Given the description of an element on the screen output the (x, y) to click on. 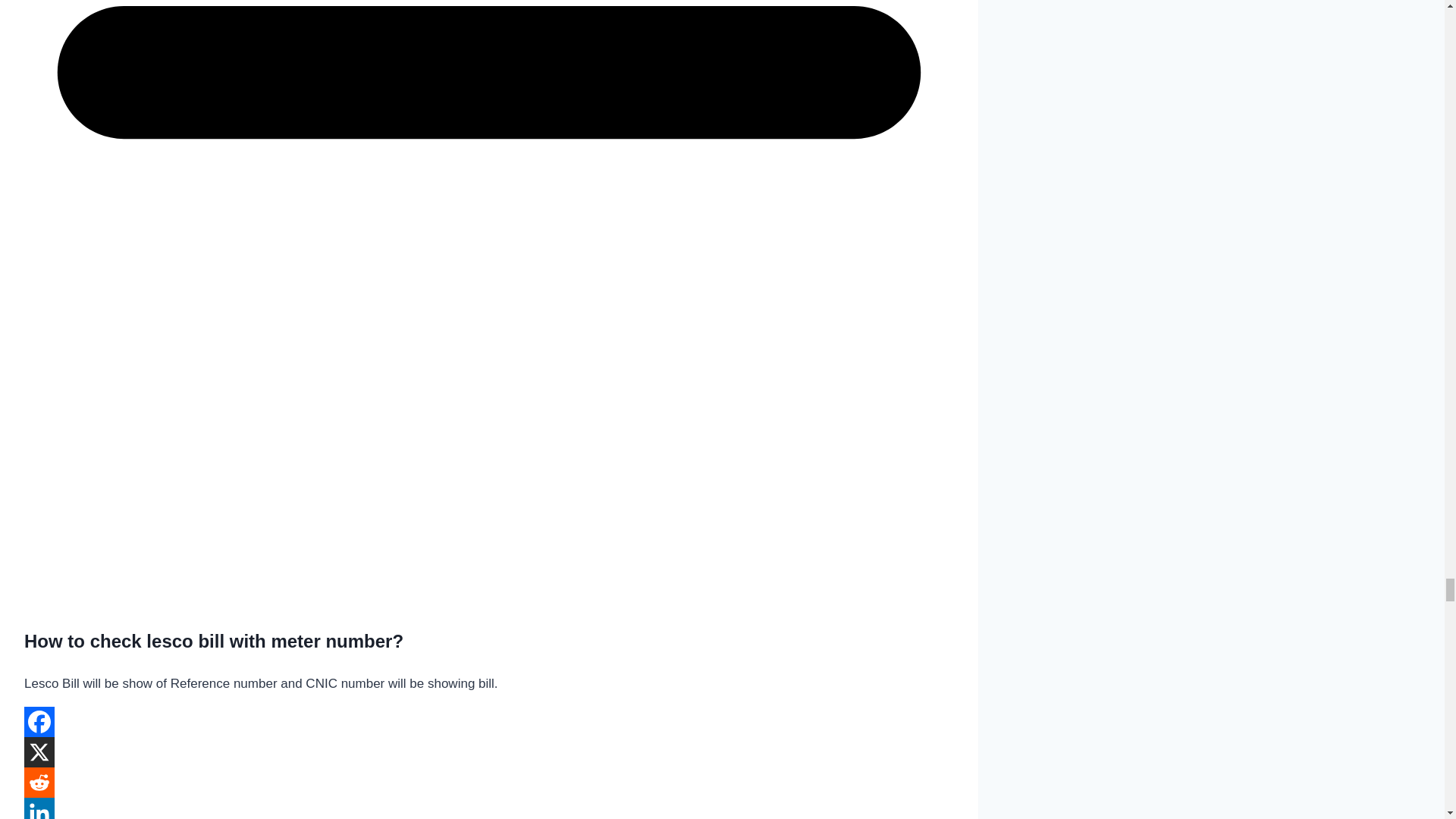
Facebook (39, 721)
Linkedin (39, 808)
X (39, 752)
Reddit (39, 782)
